Given the description of an element on the screen output the (x, y) to click on. 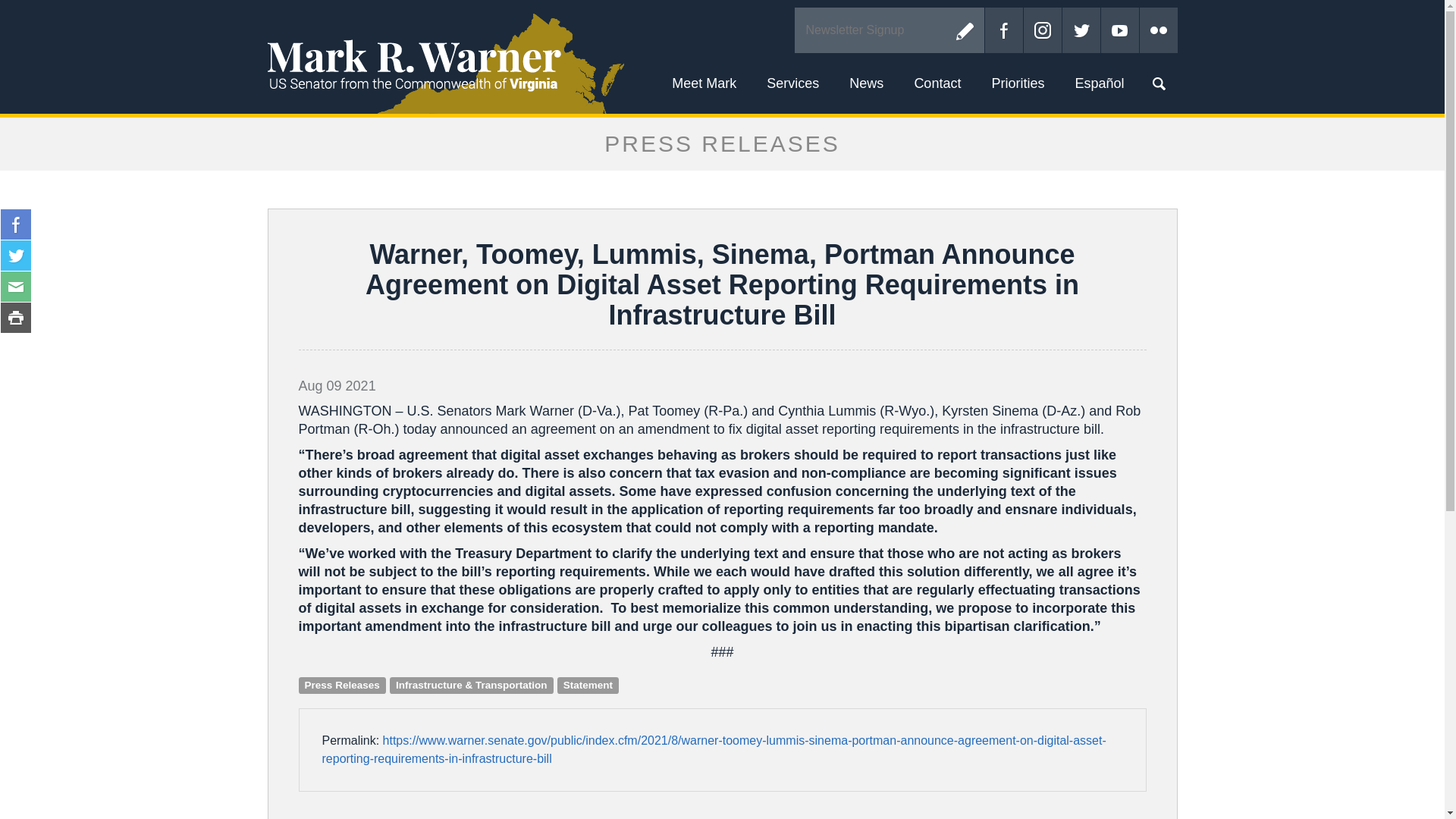
Services (792, 83)
Priorities (1017, 83)
Meet Mark (703, 83)
Contact (936, 83)
News (866, 83)
